Given the description of an element on the screen output the (x, y) to click on. 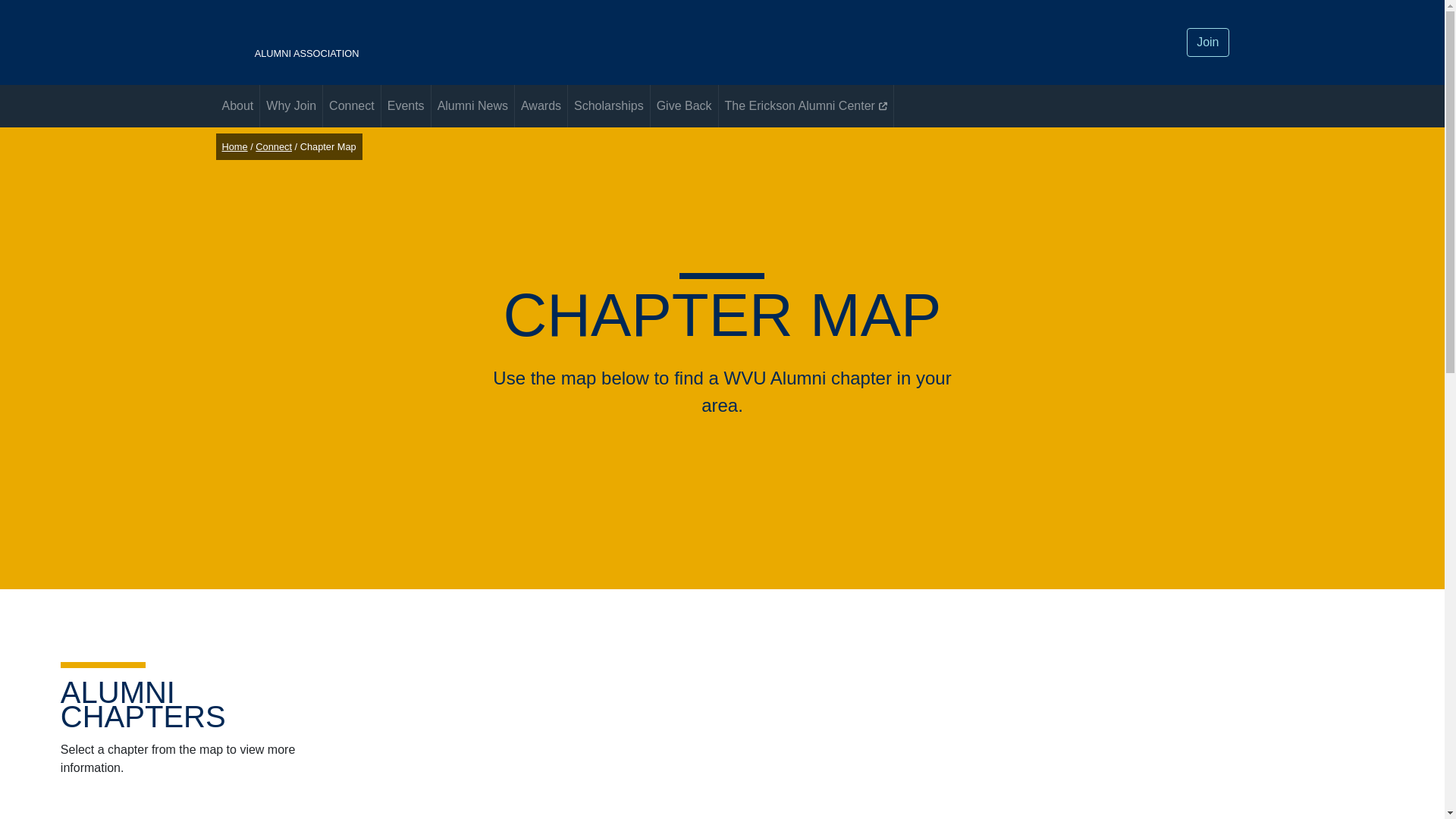
Scholarships (608, 106)
Join (550, 42)
Awards (1207, 41)
Alumni News (541, 106)
Connect (471, 106)
Events (351, 106)
Why Join (405, 106)
About (290, 106)
